Given the description of an element on the screen output the (x, y) to click on. 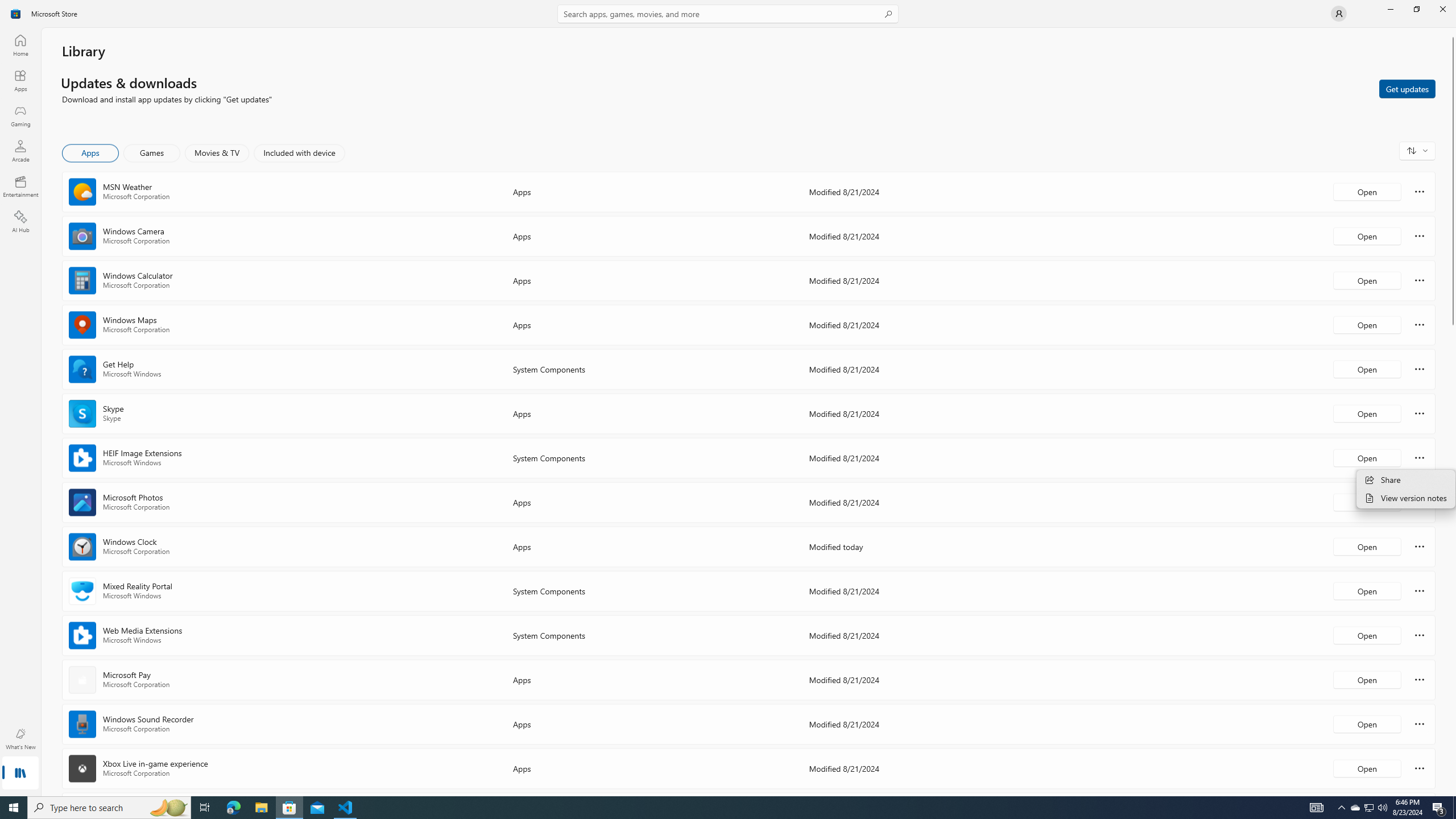
Search (727, 13)
AutomationID: NavigationControl (728, 398)
Vertical Large Increase (1452, 557)
Movies & TV (216, 153)
Get updates (1406, 88)
Vertical Small Decrease (1452, 31)
Games (151, 153)
Included with device (299, 153)
More options (1419, 768)
